Given the description of an element on the screen output the (x, y) to click on. 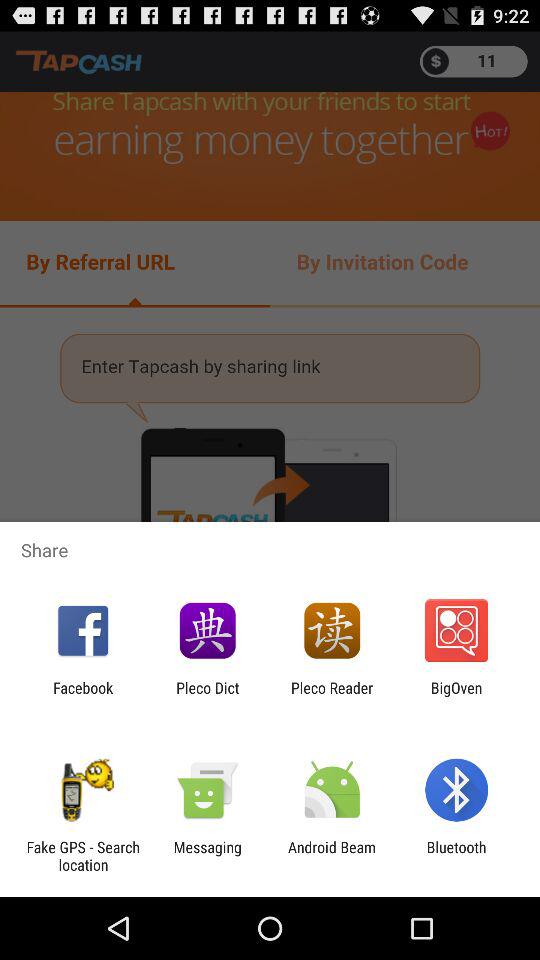
launch item next to the facebook icon (207, 696)
